Given the description of an element on the screen output the (x, y) to click on. 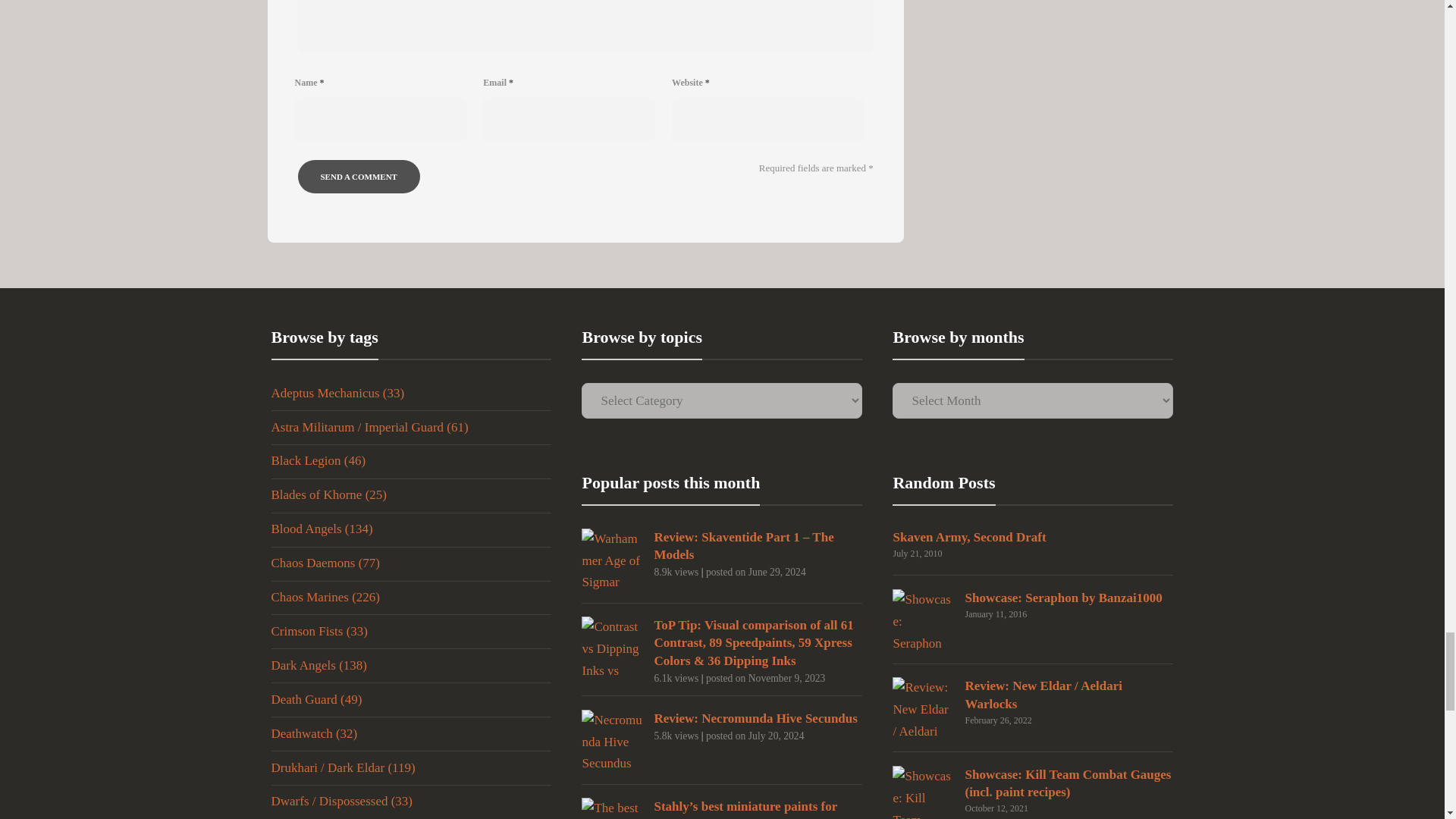
Send a comment (358, 176)
